Given the description of an element on the screen output the (x, y) to click on. 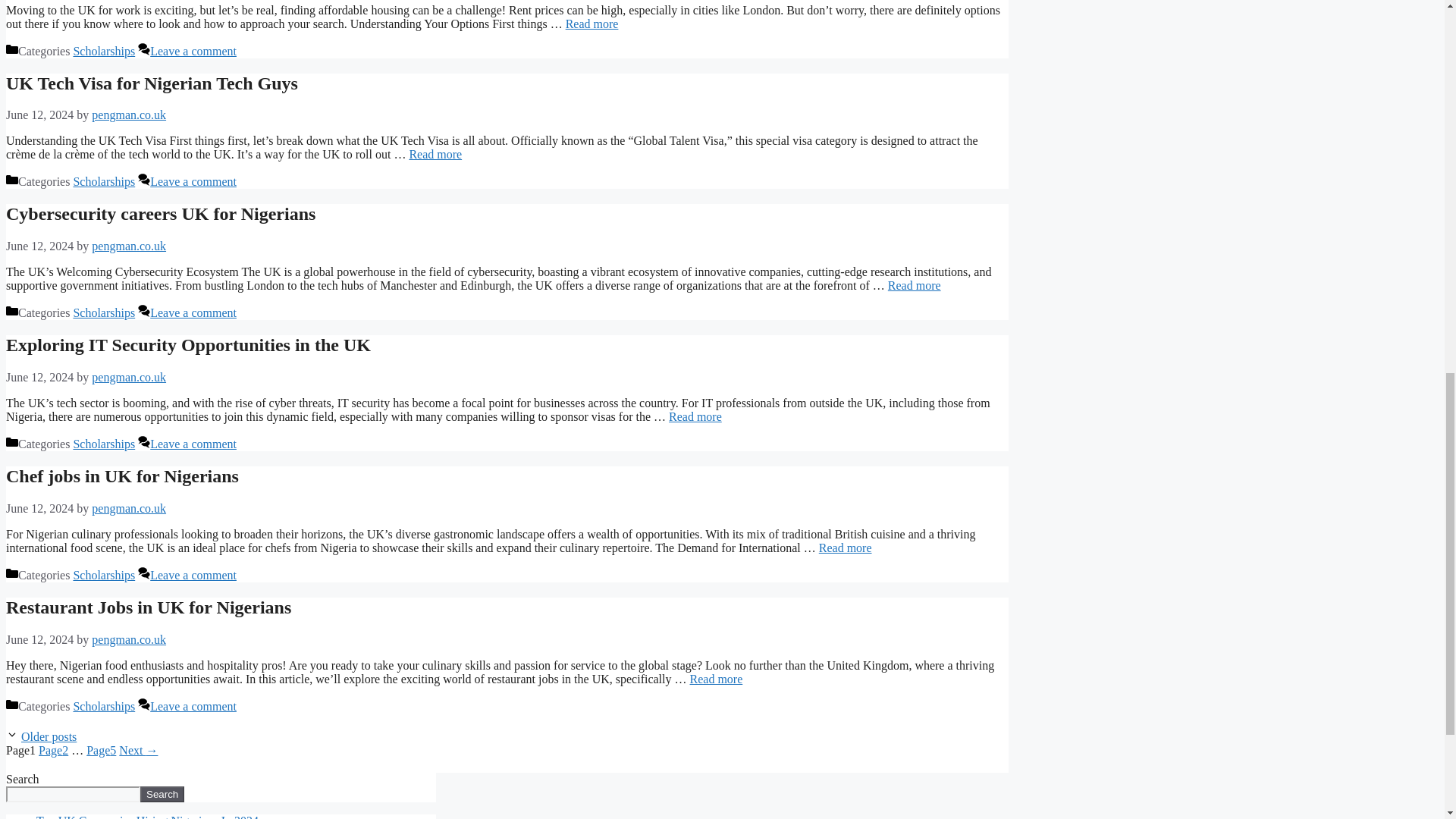
UK Tech Visa for Nigerian Tech Guys (435, 154)
Scholarships (103, 51)
Affordable Housing in the UK as a Nigerian Worker (592, 23)
Read more (435, 154)
Scholarships (103, 181)
pengman.co.uk (128, 114)
Exploring IT Security Opportunities in the UK (695, 416)
Read more (592, 23)
View all posts by pengman.co.uk (128, 114)
Cybersecurity careers UK for Nigerians (914, 285)
Leave a comment (192, 51)
View all posts by pengman.co.uk (128, 245)
UK Tech Visa for Nigerian Tech Guys (151, 82)
View all posts by pengman.co.uk (128, 377)
